Given the description of an element on the screen output the (x, y) to click on. 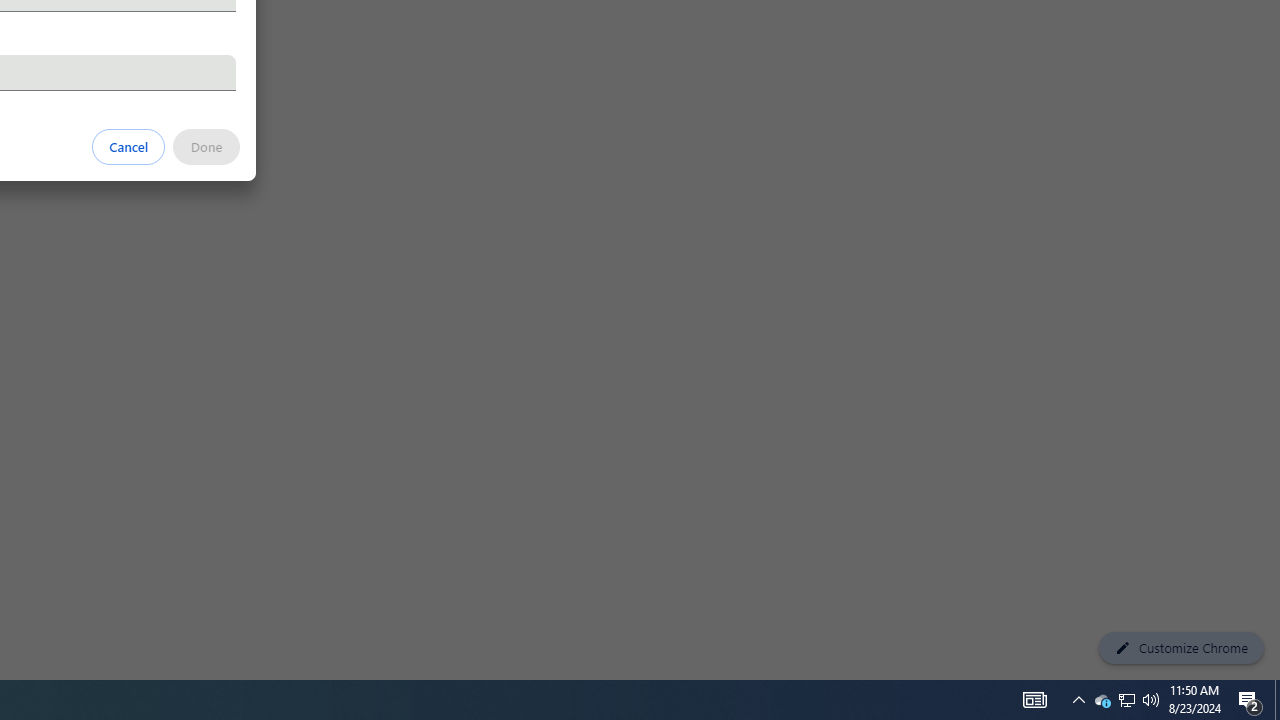
Show desktop (1277, 699)
User Promoted Notification Area (1126, 699)
AutomationID: 4105 (1034, 699)
Notification Chevron (1078, 699)
Cancel (1126, 699)
Action Center, 2 new notifications (129, 146)
Q2790: 100% (1250, 699)
Done (1151, 699)
